Given the description of an element on the screen output the (x, y) to click on. 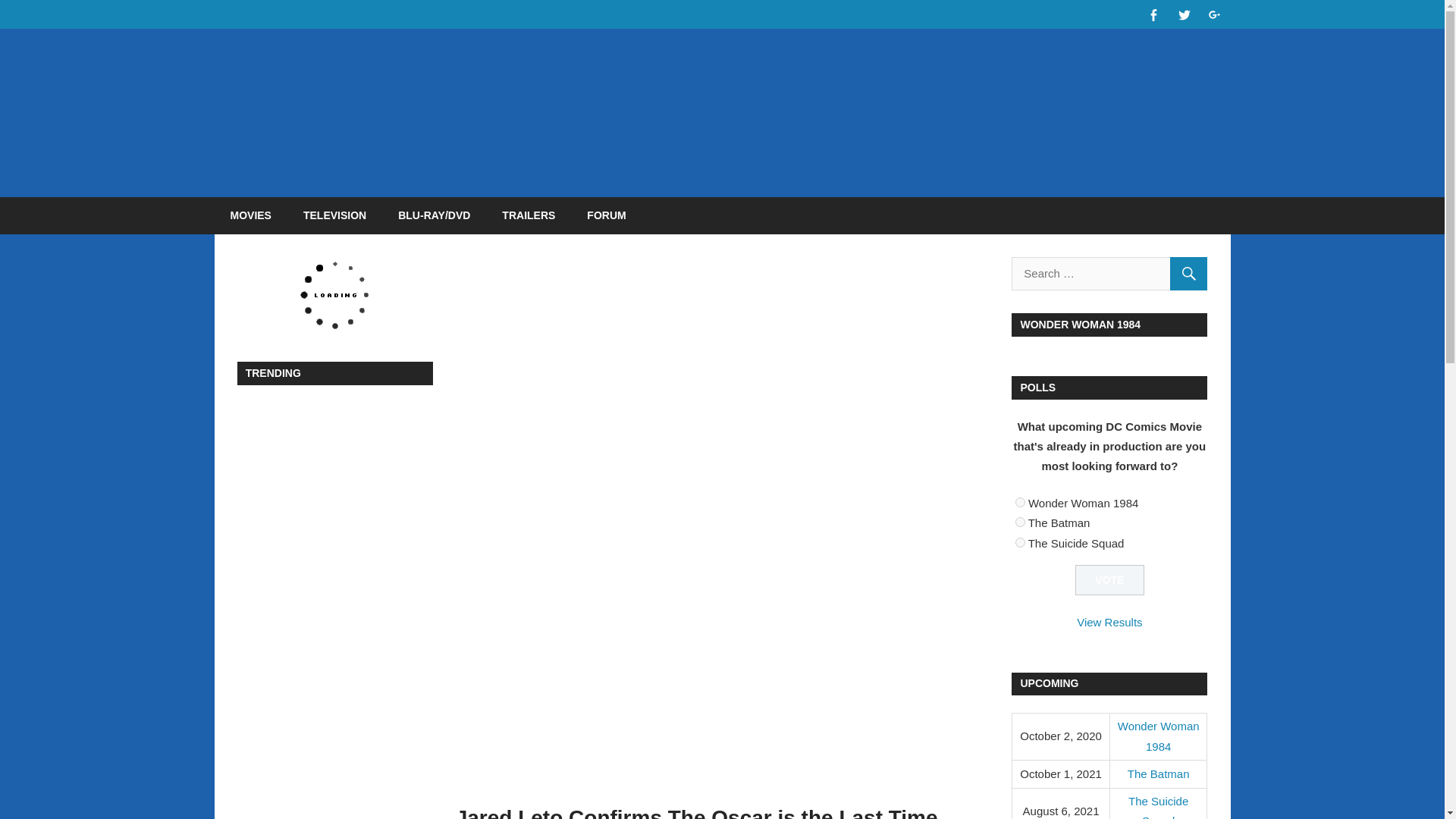
The Suicide Squad (1158, 806)
   Vote    (1109, 580)
View Results Of This Poll (1109, 621)
82 (1019, 501)
84 (1019, 542)
Search for: (1109, 273)
Wonder Woman 1984 (1158, 735)
The Batman (1157, 773)
MOVIES (250, 216)
View Results (1109, 621)
83 (1019, 521)
TELEVISION (333, 216)
FORUM (606, 216)
TRAILERS (528, 216)
